Given the description of an element on the screen output the (x, y) to click on. 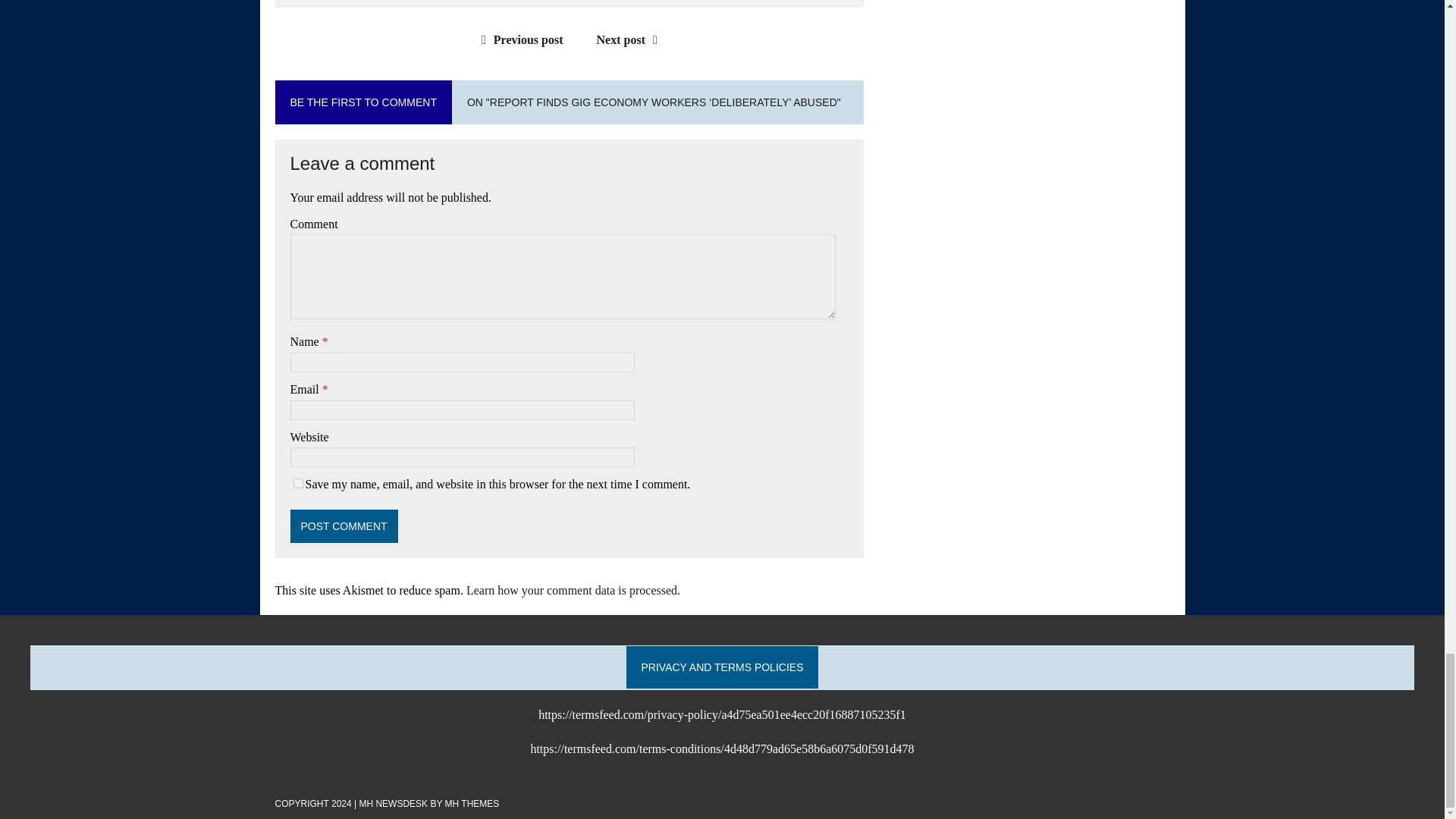
Post Comment (343, 525)
yes (297, 483)
Learn how your comment data is processed (571, 590)
Post Comment (343, 525)
Next post (630, 39)
Previous post (518, 39)
